Given the description of an element on the screen output the (x, y) to click on. 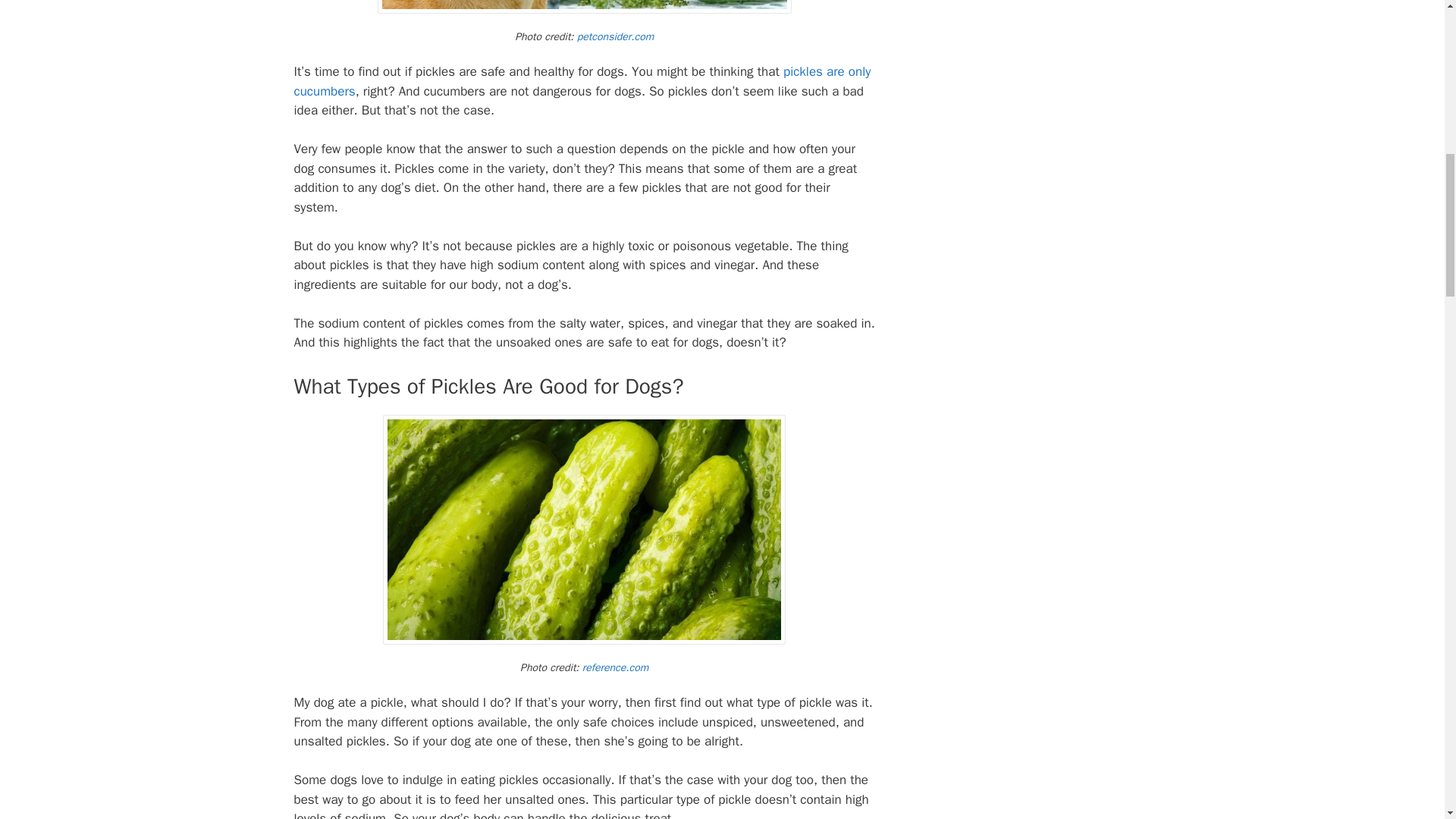
reference.com (615, 667)
petconsider.com (614, 36)
